Given the description of an element on the screen output the (x, y) to click on. 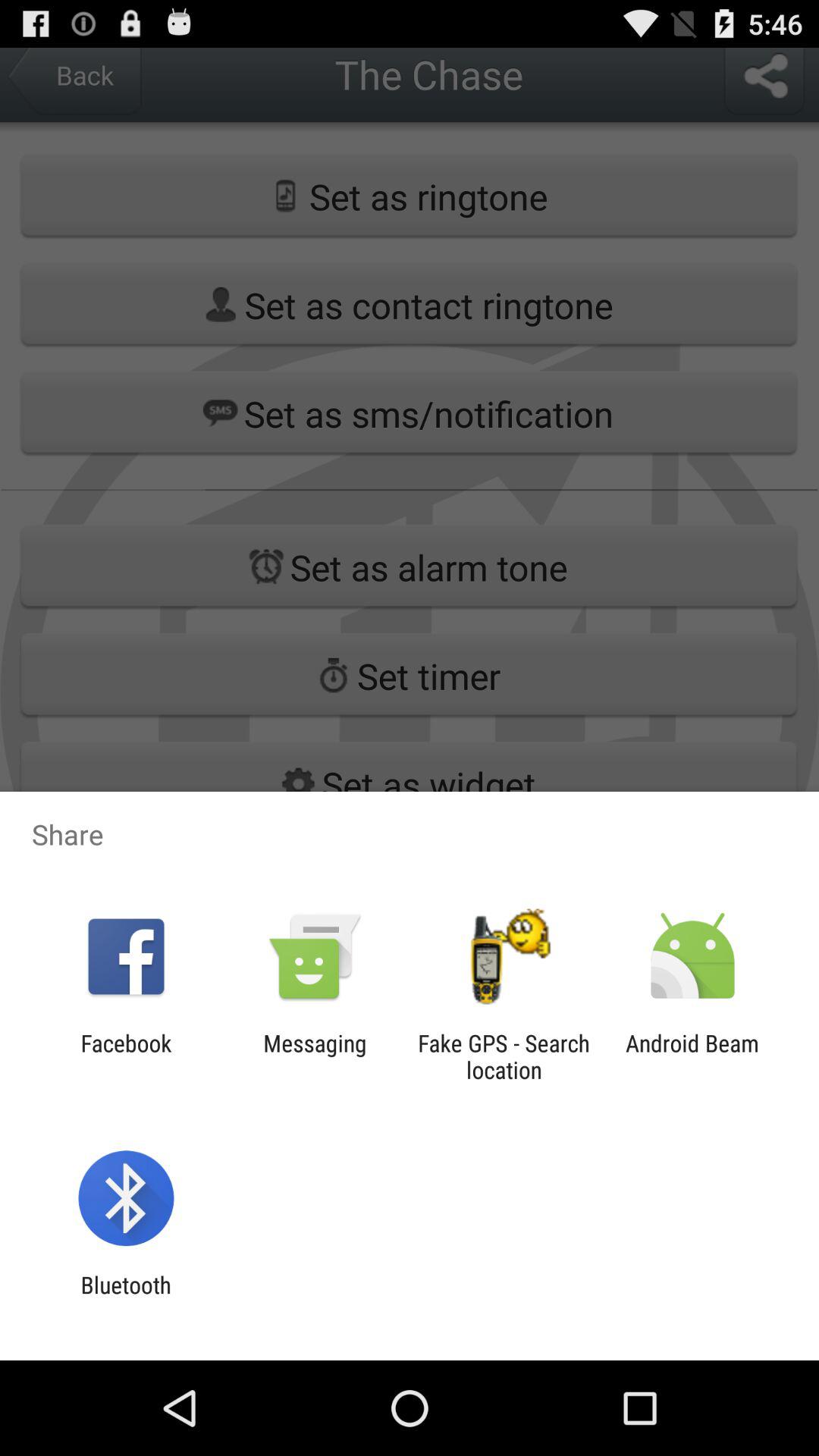
tap app next to the facebook icon (314, 1056)
